Given the description of an element on the screen output the (x, y) to click on. 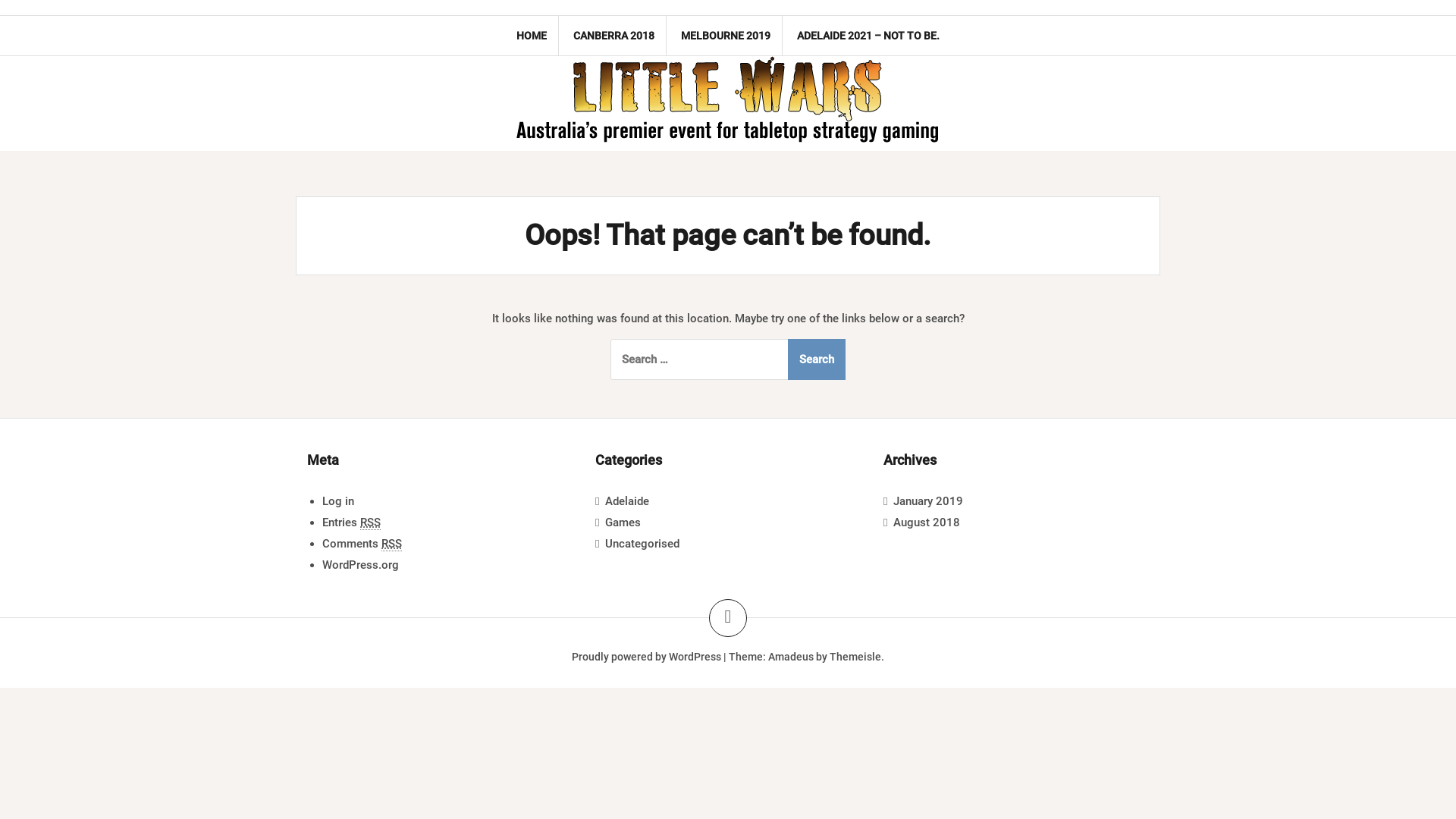
MELBOURNE 2019 Element type: text (725, 35)
Games Element type: text (622, 522)
CANBERRA 2018 Element type: text (613, 35)
January 2019 Element type: text (928, 501)
August 2018 Element type: text (926, 522)
Entries RSS Element type: text (351, 522)
Adelaide Element type: text (627, 501)
HOME Element type: text (531, 35)
Log in Element type: text (338, 501)
Search Element type: text (816, 358)
Skip to content Element type: text (0, 0)
WordPress.org Element type: text (360, 564)
Comments RSS Element type: text (361, 543)
Uncategorised Element type: text (642, 543)
Amadeus Element type: text (790, 656)
Proudly powered by WordPress Element type: text (646, 656)
